Given the description of an element on the screen output the (x, y) to click on. 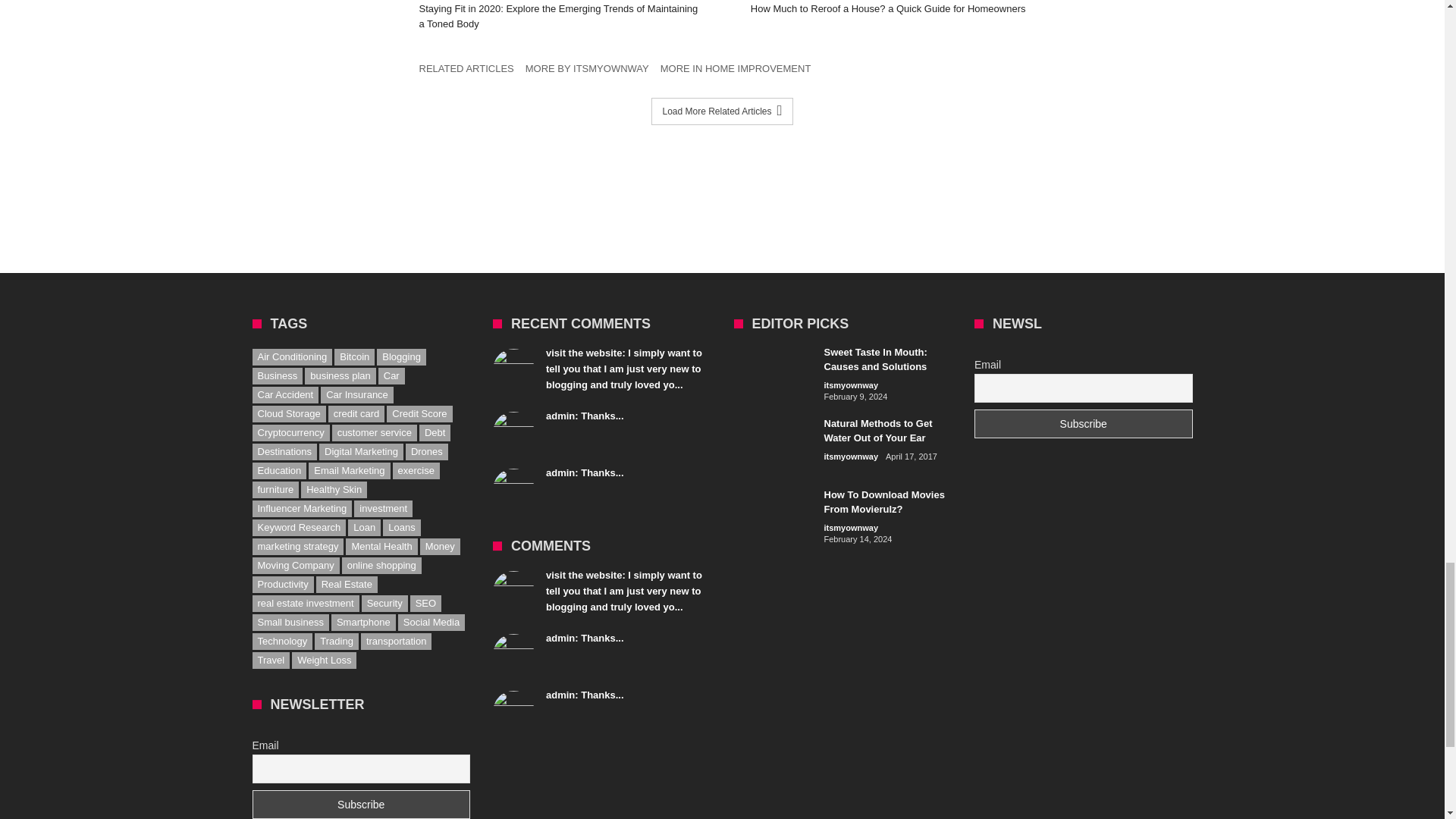
Subscribe (360, 804)
Subscribe (1083, 423)
